Given the description of an element on the screen output the (x, y) to click on. 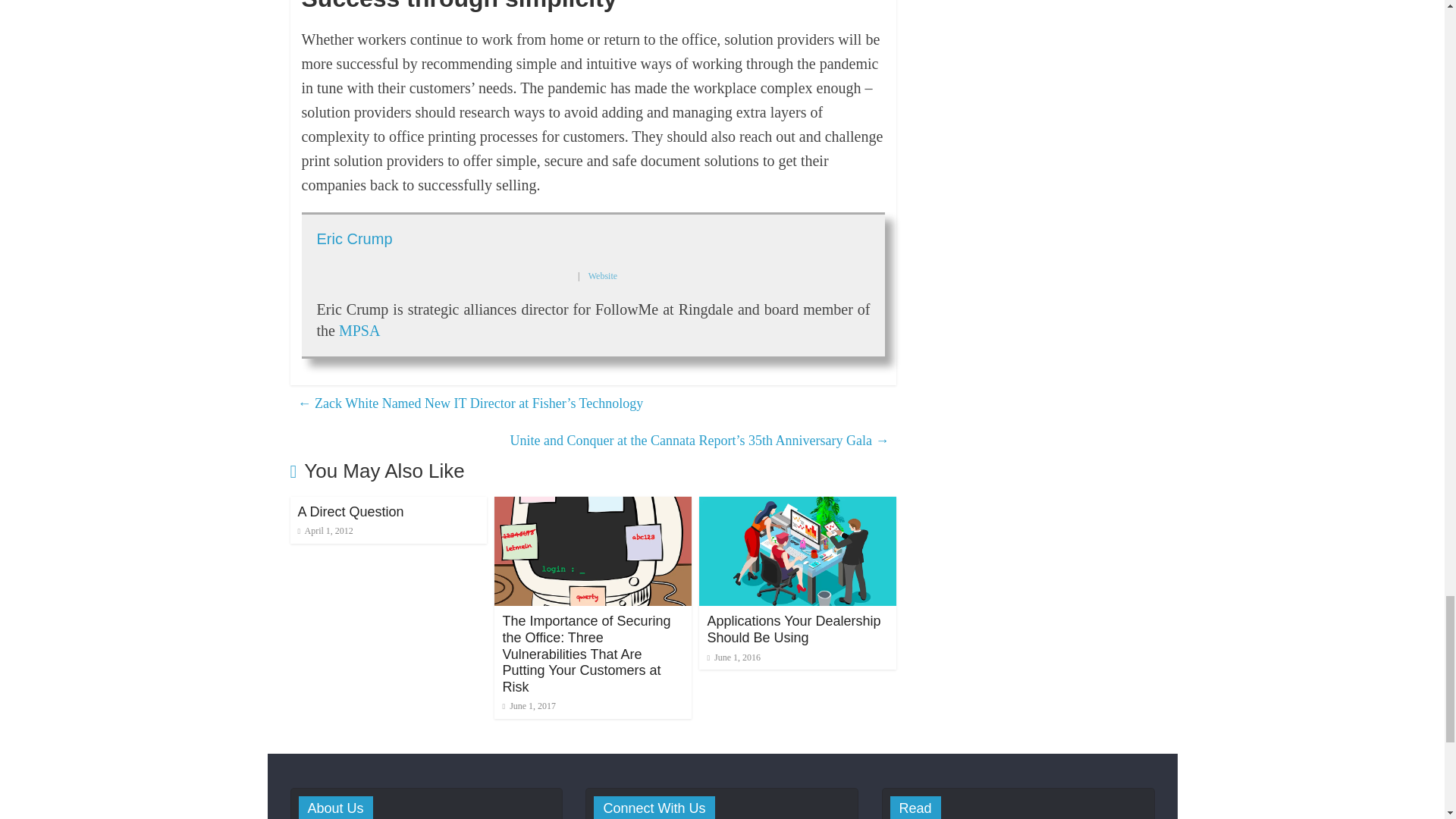
2:04 pm (529, 706)
A Direct Question (350, 511)
10:13 am (324, 530)
